Given the description of an element on the screen output the (x, y) to click on. 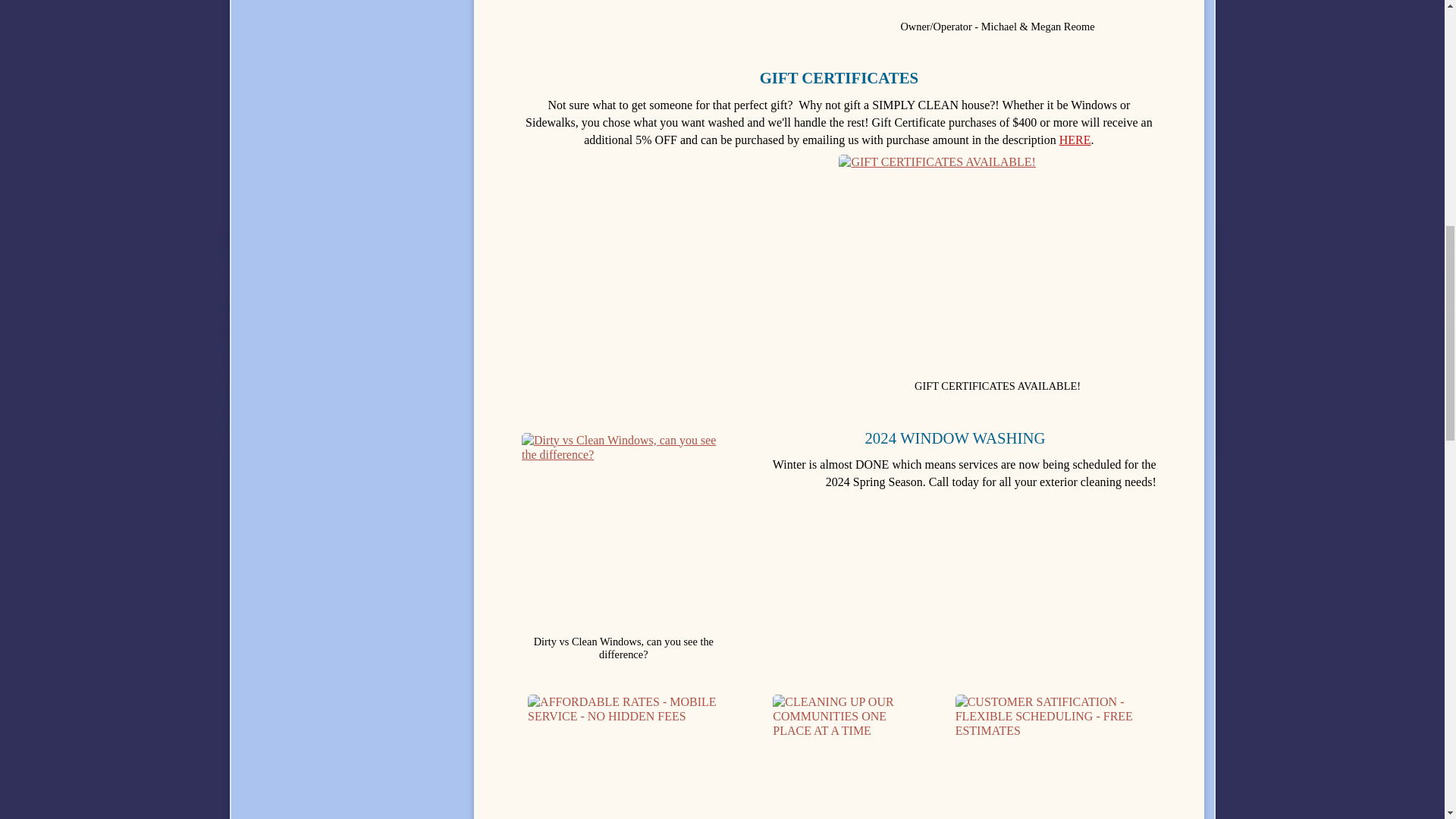
HERE (1074, 139)
